Given the description of an element on the screen output the (x, y) to click on. 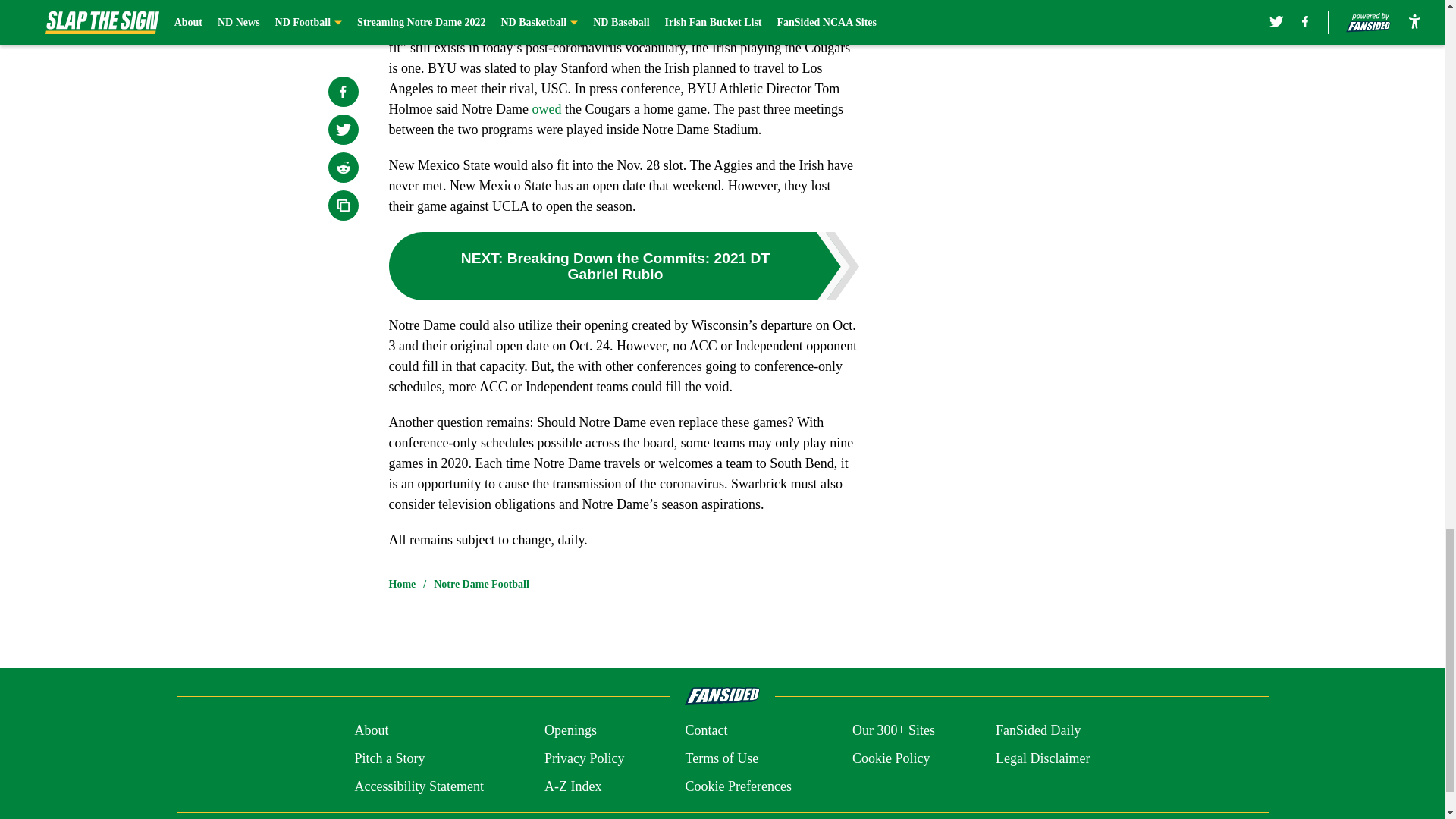
Openings (570, 730)
FanSided Daily (1038, 730)
owed (545, 109)
Terms of Use (721, 758)
Pitch a Story (389, 758)
NEXT: Breaking Down the Commits: 2021 DT Gabriel Rubio (623, 265)
Contact (705, 730)
Home (401, 584)
About (370, 730)
Cookie Policy (890, 758)
